Given the description of an element on the screen output the (x, y) to click on. 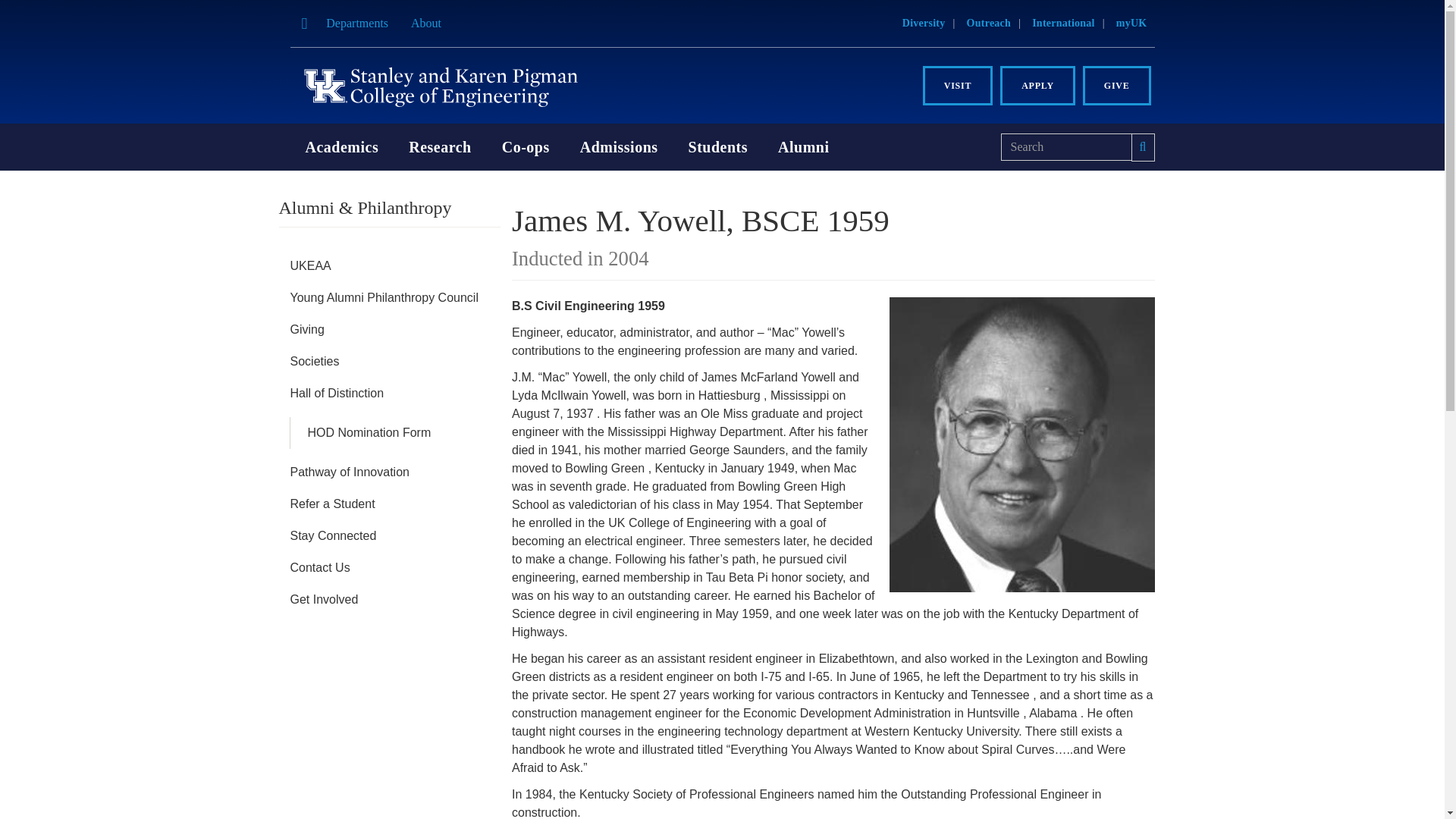
Diversity (923, 23)
Academics (341, 146)
International (1063, 23)
Outreach (988, 23)
Departments (356, 22)
myUK (1131, 23)
Enter the terms you wish to search for. (1066, 146)
About (425, 22)
GIVE (1117, 85)
